Given the description of an element on the screen output the (x, y) to click on. 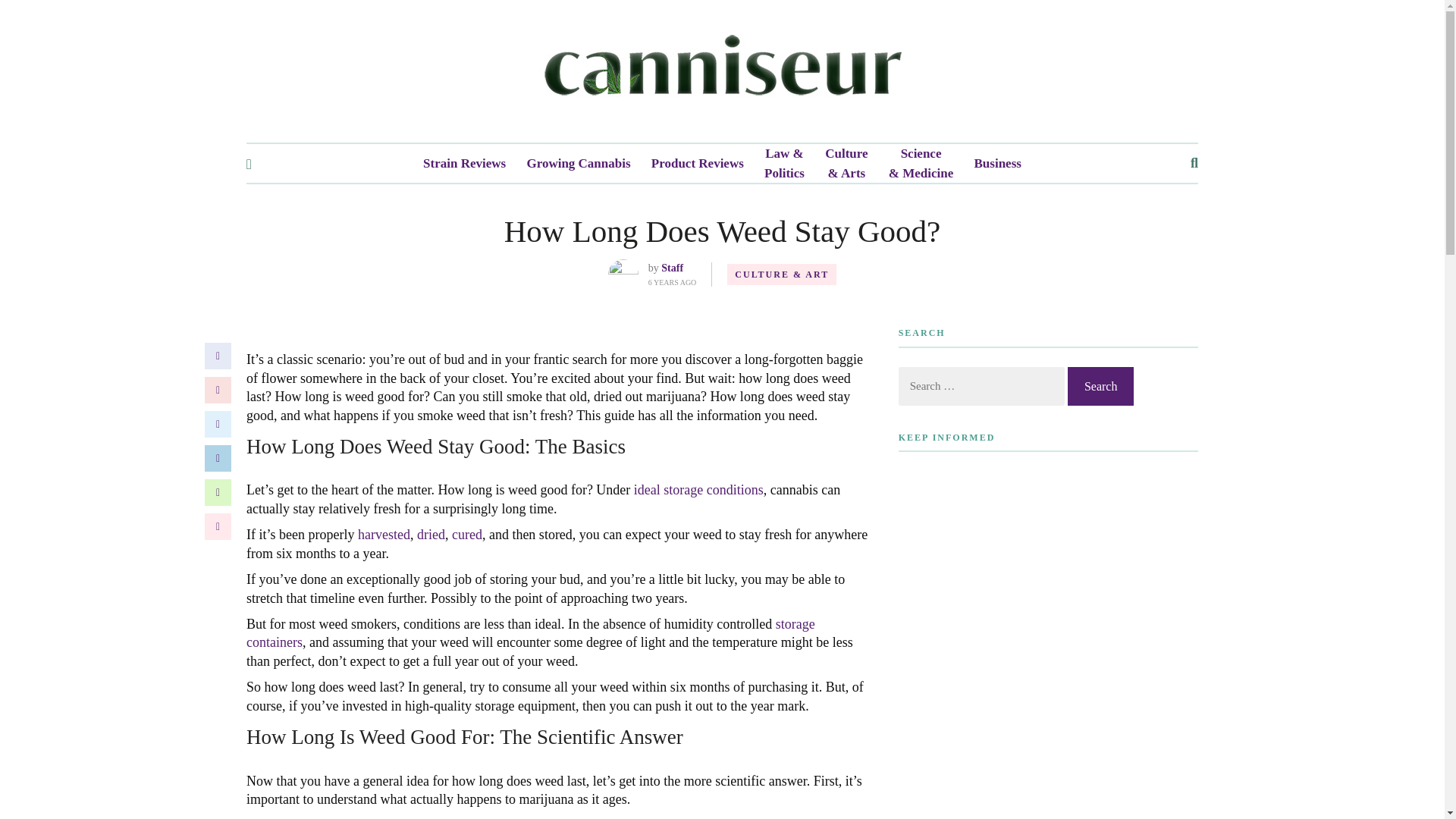
ideal storage conditions (697, 489)
Search (1100, 385)
Growing Cannabis (577, 163)
harvested (384, 534)
cured (466, 534)
Canniseur (721, 71)
Business (998, 163)
Search (1100, 385)
Strain Reviews (464, 163)
Product Reviews (697, 163)
